Given the description of an element on the screen output the (x, y) to click on. 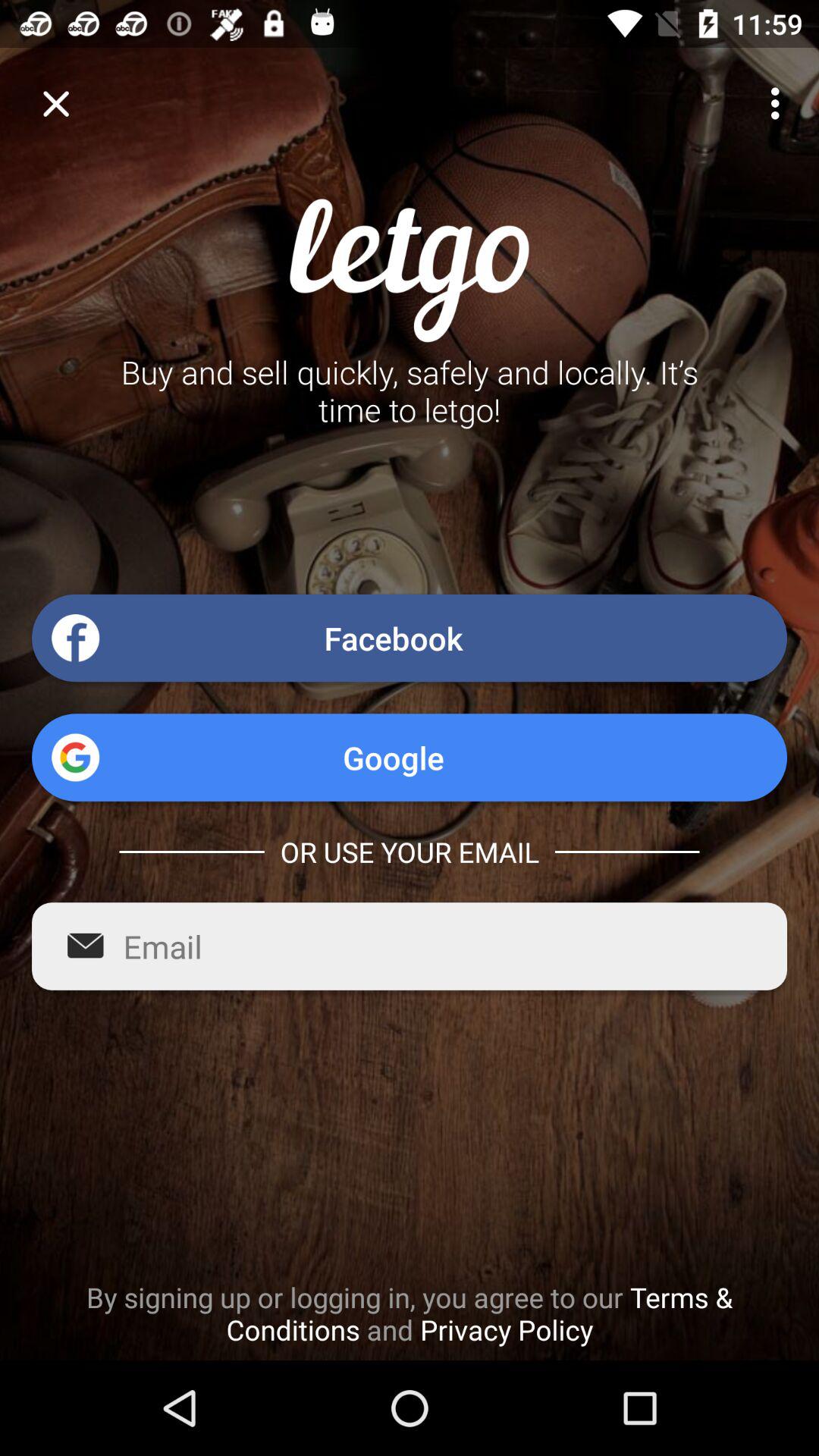
launch the item above the google (409, 637)
